Given the description of an element on the screen output the (x, y) to click on. 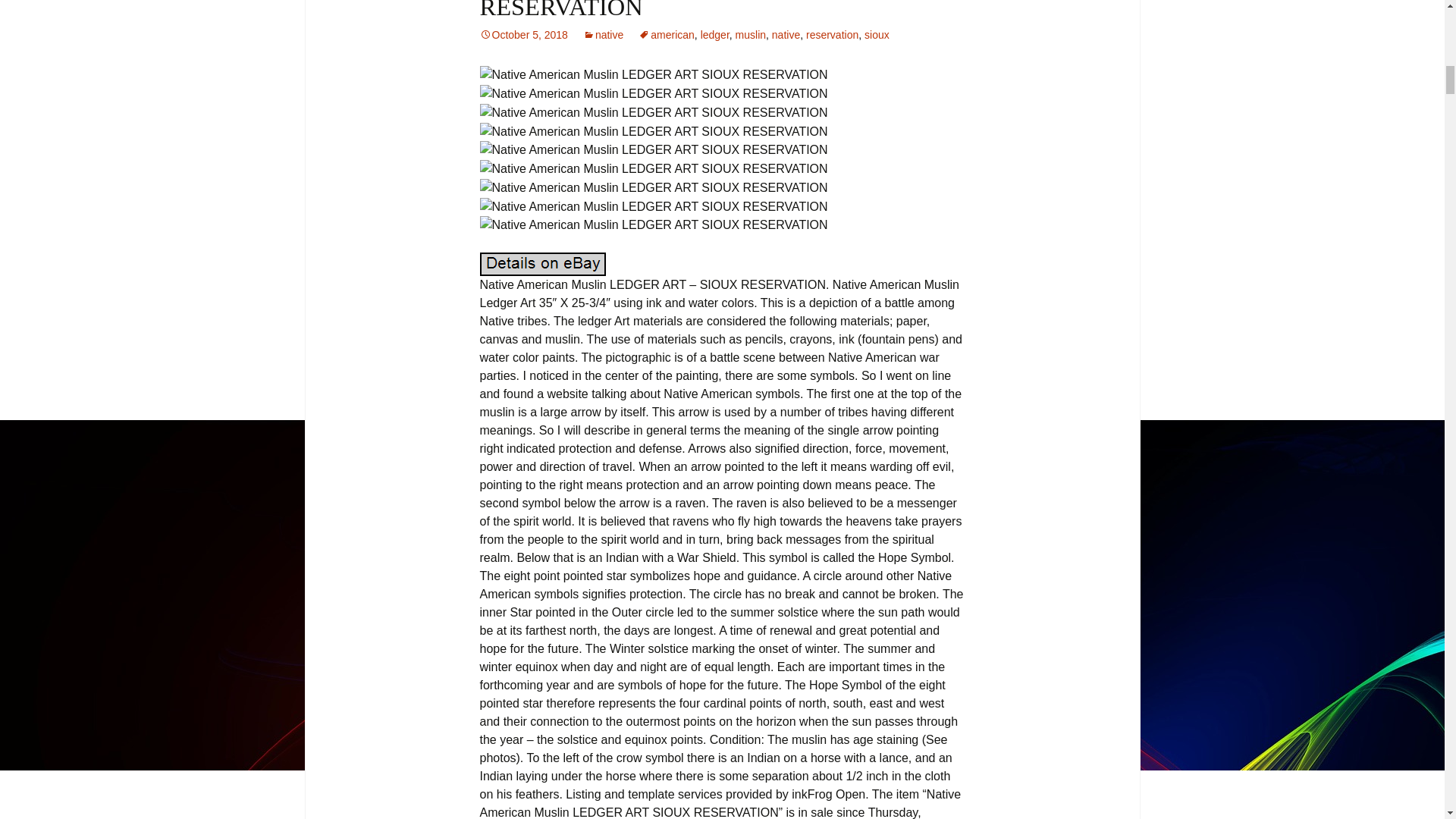
Native American Muslin LEDGER ART SIOUX RESERVATION (719, 10)
native (603, 34)
October 5, 2018 (523, 34)
muslin (750, 34)
american (666, 34)
Native American Muslin LEDGER ART SIOUX RESERVATION (653, 75)
native (785, 34)
ledger (714, 34)
